Given the description of an element on the screen output the (x, y) to click on. 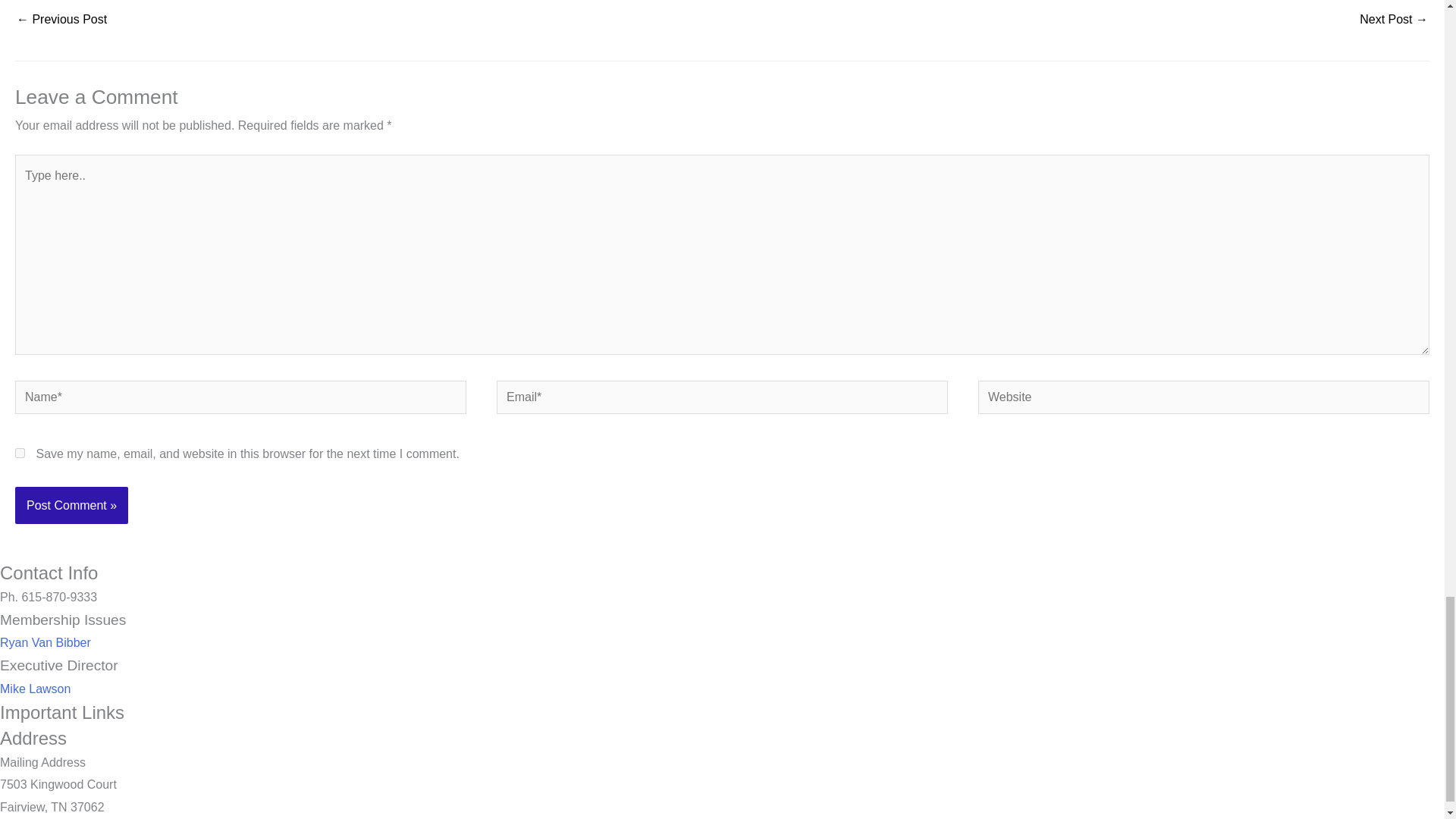
Mike Lawson (34, 688)
Invitacion - Cervantes, Ignatio (61, 20)
yes (19, 452)
Ryan Van Bibber (45, 642)
Form in Music (1393, 20)
